Given the description of an element on the screen output the (x, y) to click on. 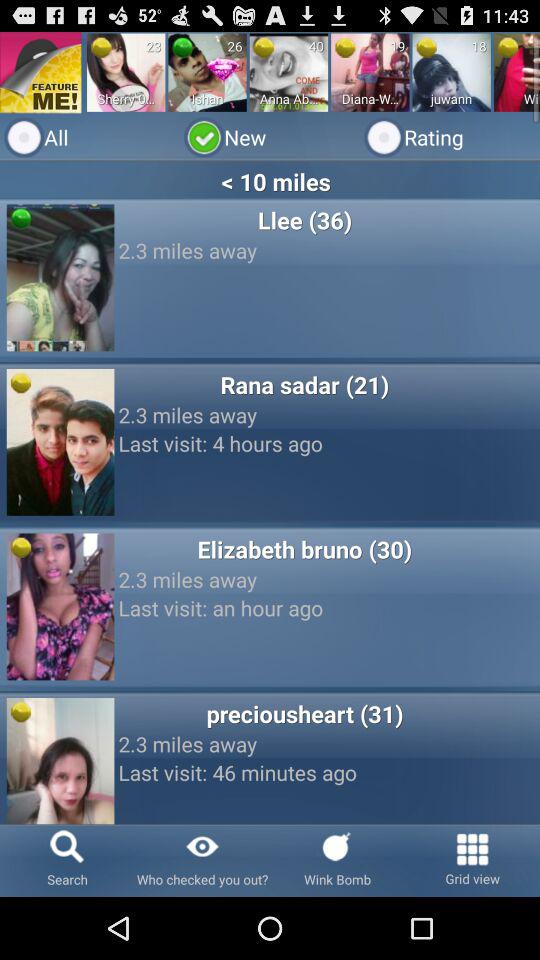
click icon above 2 3 miles item (304, 713)
